Given the description of an element on the screen output the (x, y) to click on. 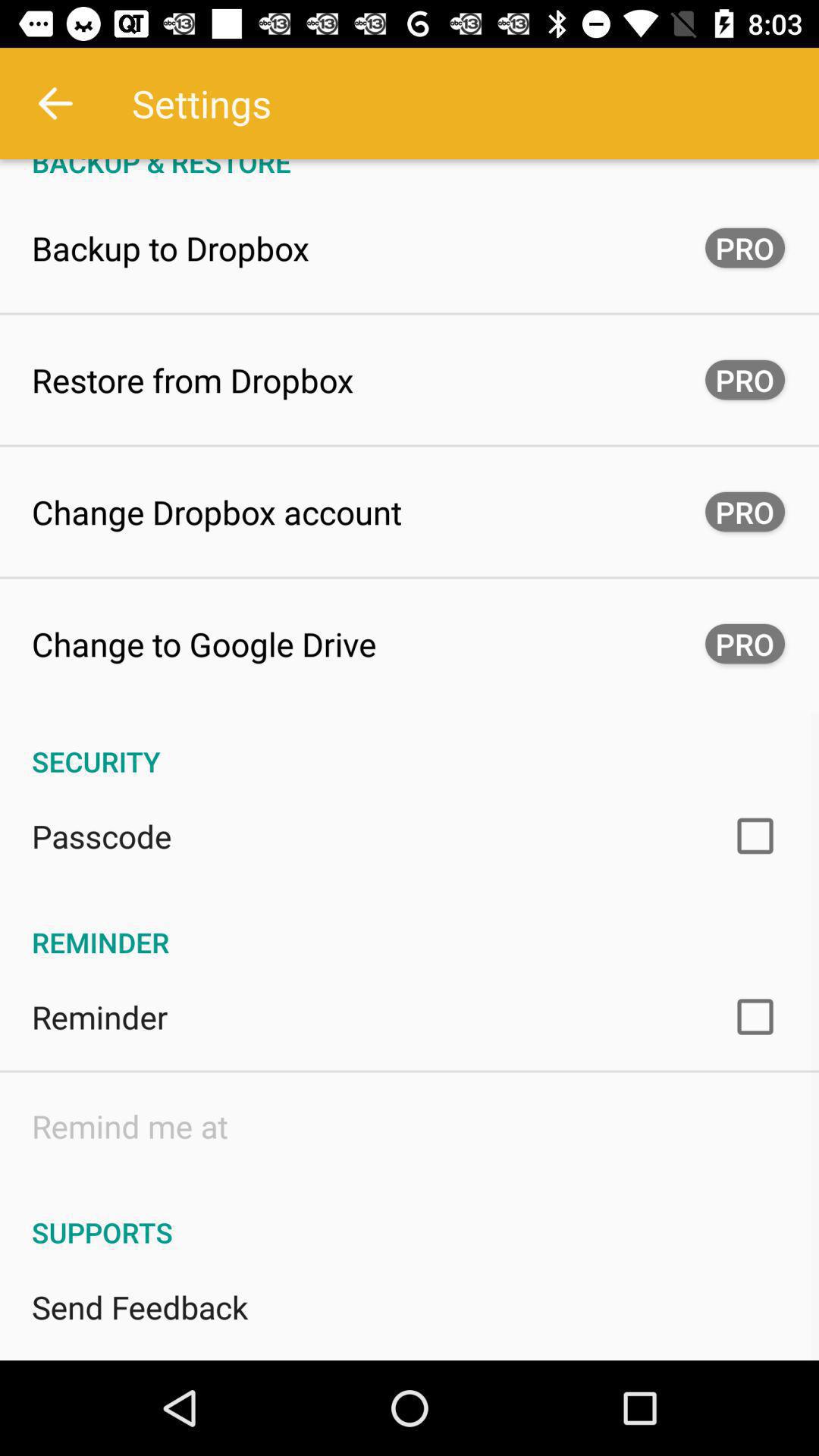
open the item below restore from dropbox app (216, 511)
